Given the description of an element on the screen output the (x, y) to click on. 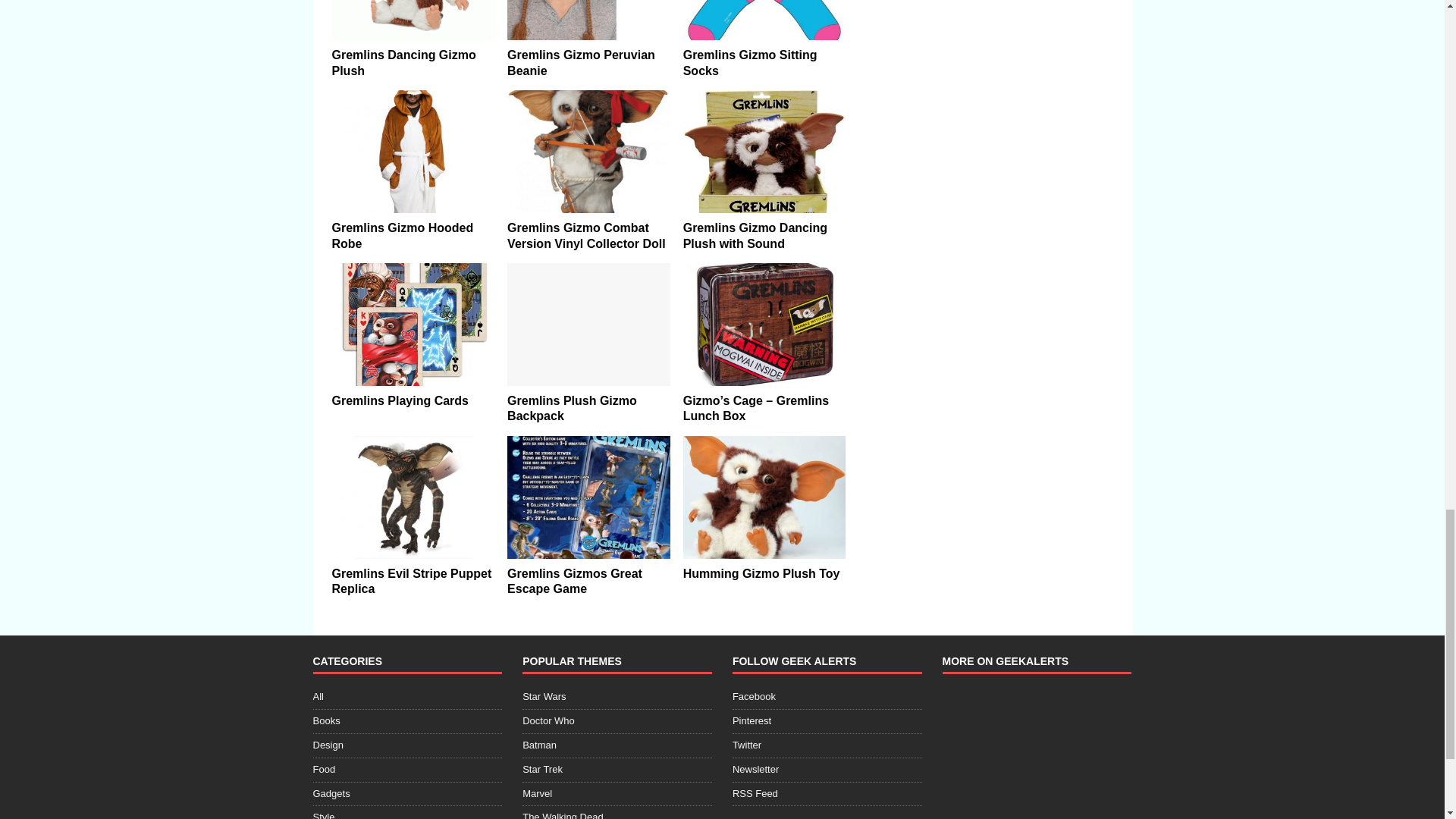
Gremlins Dancing Gizmo Plush (413, 20)
Gremlins Gizmo Peruvian Beanie (580, 62)
Gremlins Gizmo Peruvian Beanie (587, 20)
Gremlins Dancing Gizmo Plush (403, 62)
